Given the description of an element on the screen output the (x, y) to click on. 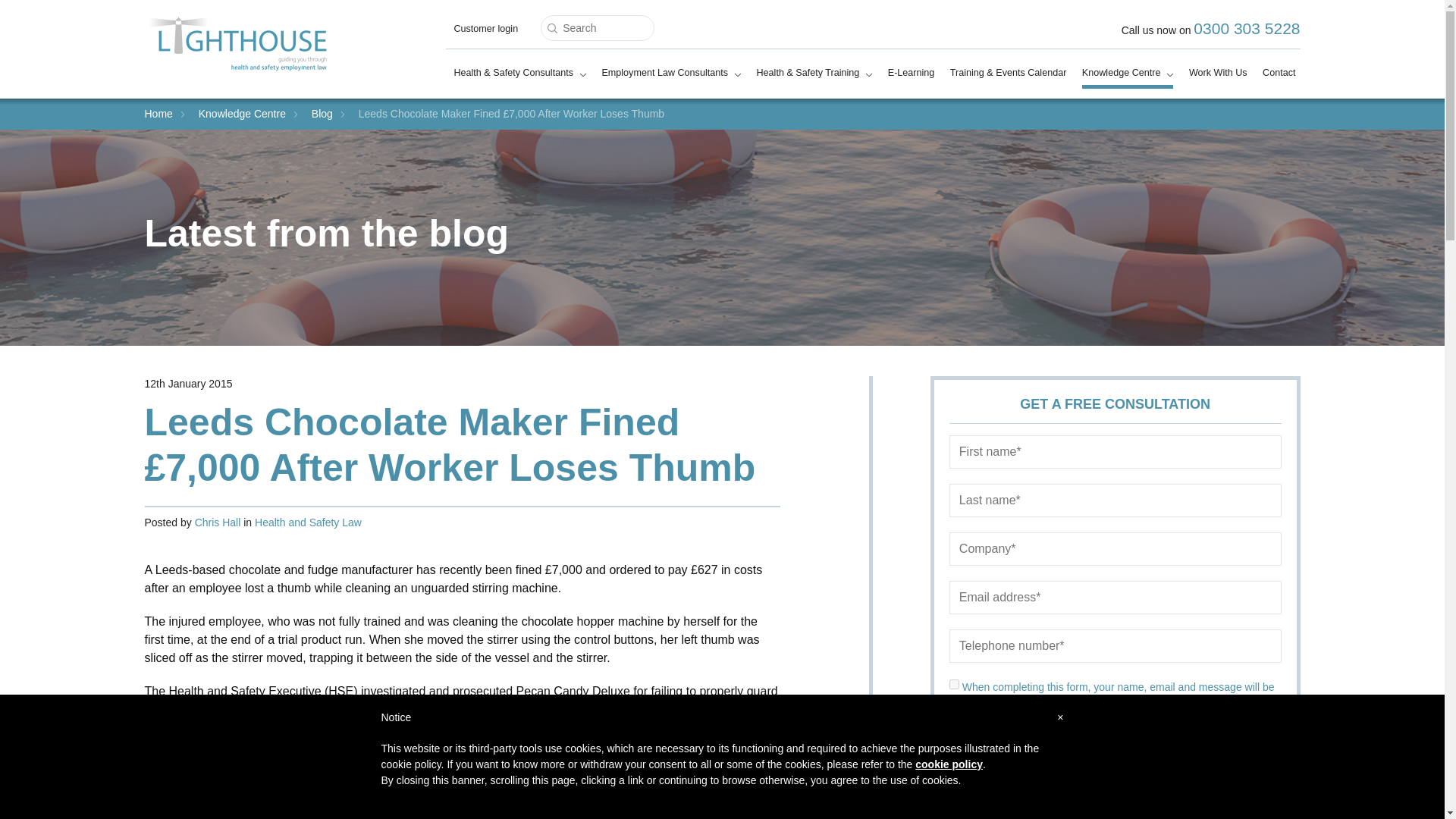
0300 303 5228 (1246, 27)
Contact (1278, 76)
Customer login (485, 31)
Home (157, 113)
Work With Us (1218, 76)
Knowledge Centre (241, 113)
Enquire now (1115, 788)
1 (954, 684)
Blog (322, 113)
Employment Law Consultants (671, 76)
Health and Safety Law (307, 522)
E-Learning (911, 76)
Privacy Policy (1073, 723)
Enquire now (1115, 788)
Knowledge Centre (1127, 77)
